Given the description of an element on the screen output the (x, y) to click on. 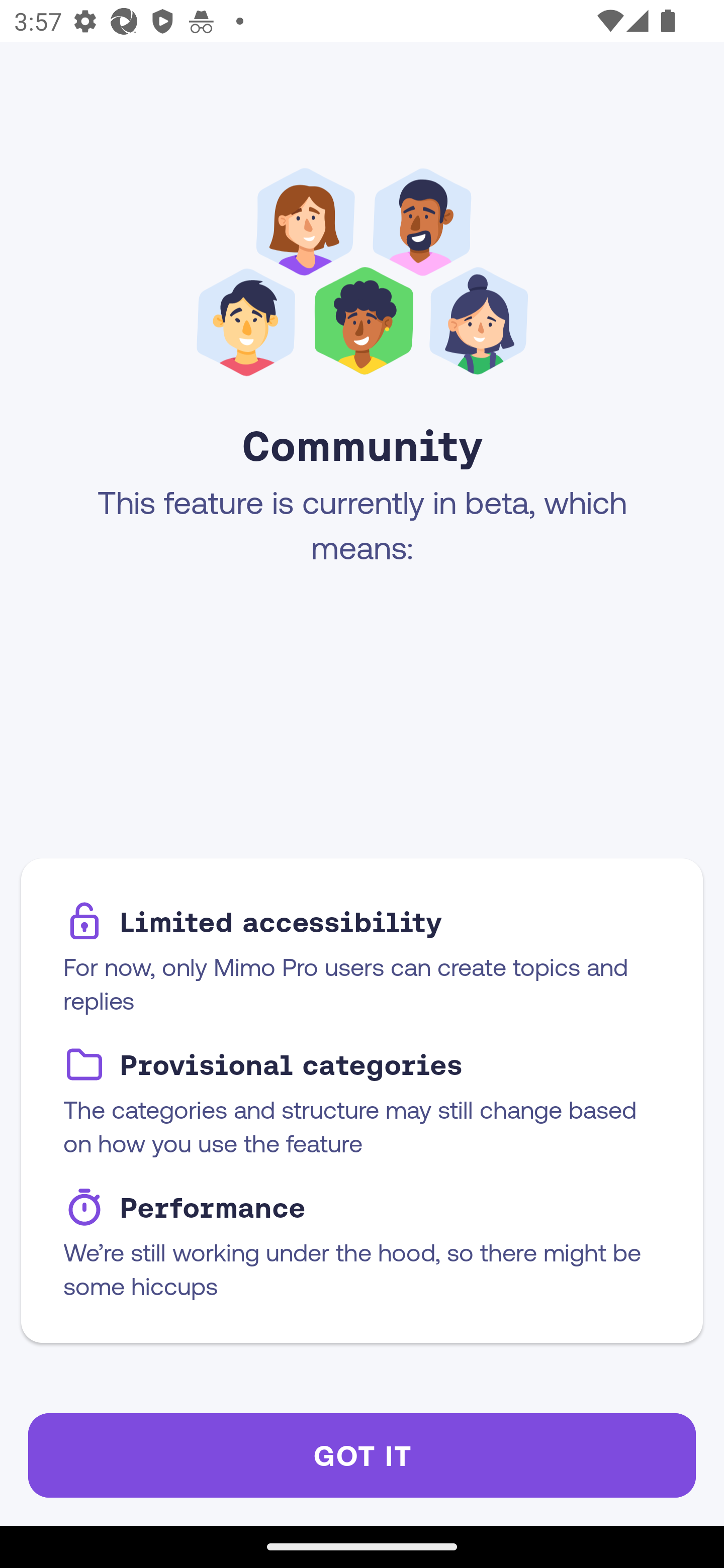
GOT IT (361, 1454)
